Given the description of an element on the screen output the (x, y) to click on. 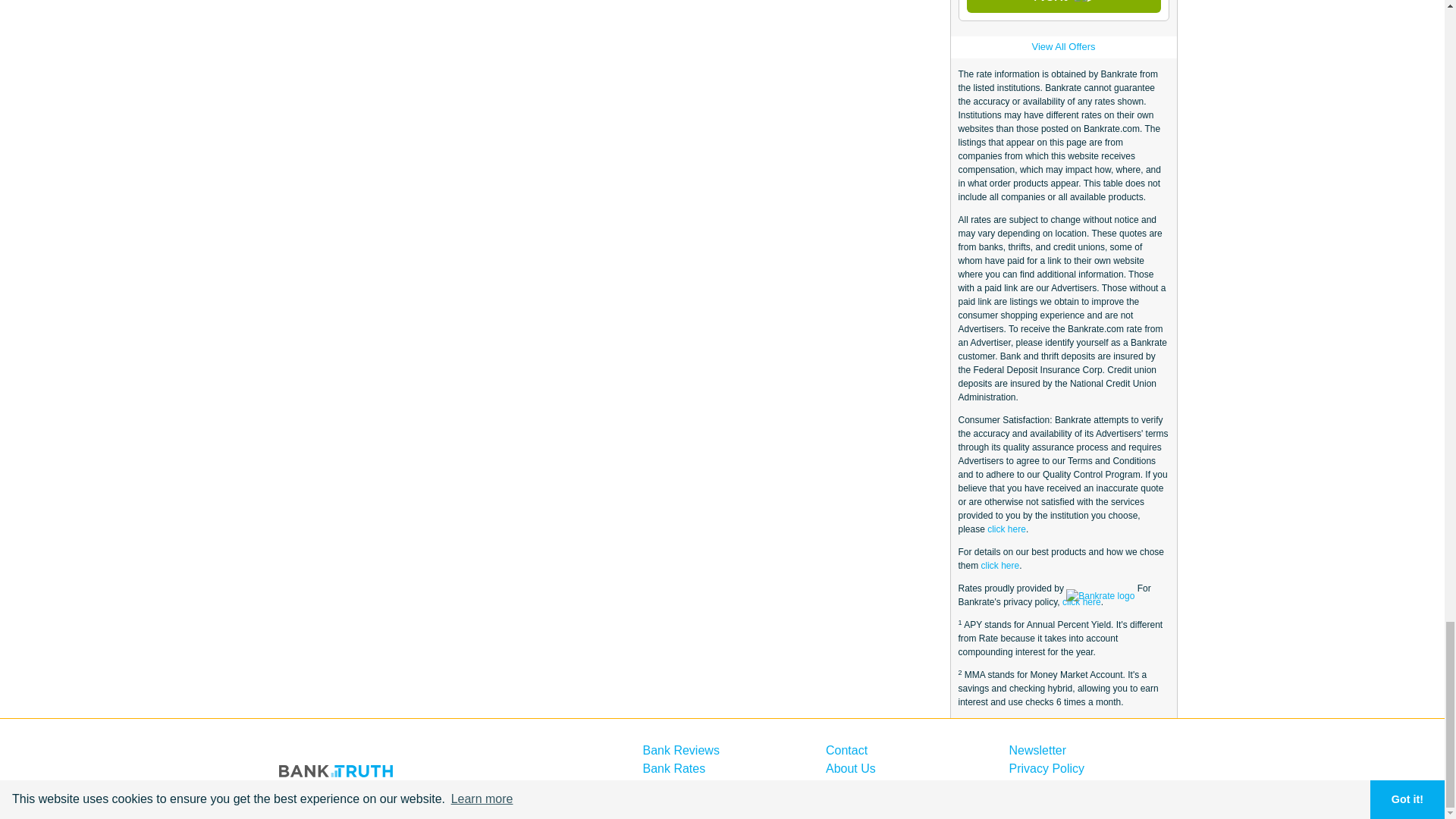
click here (1081, 602)
View All Offers (1062, 46)
Compare Banks (686, 786)
click here (1000, 565)
Next (1063, 6)
Bank Reviews (681, 749)
Bank Rates (674, 768)
click here (1006, 529)
